Given the description of an element on the screen output the (x, y) to click on. 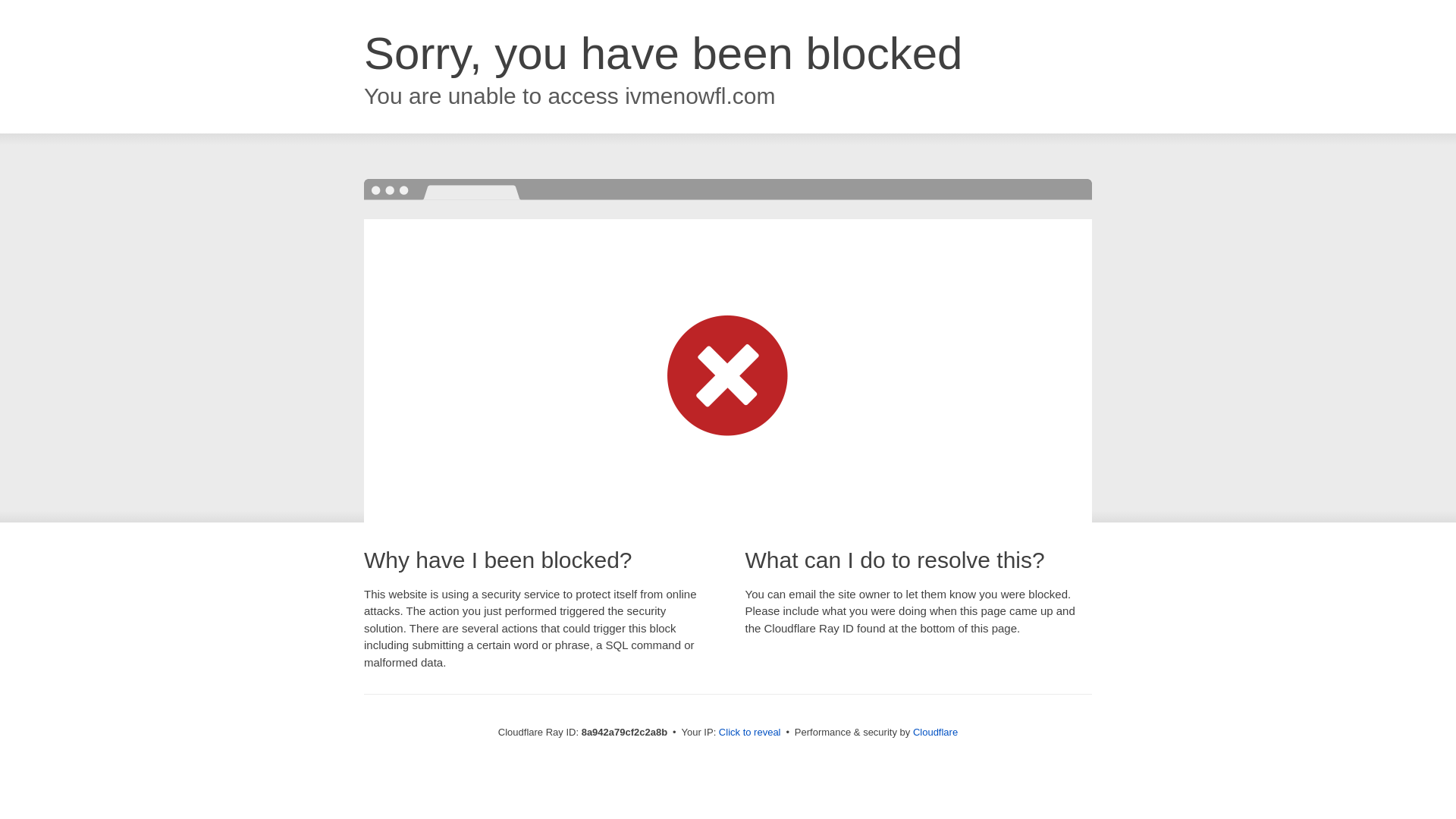
Cloudflare (935, 731)
Click to reveal (749, 732)
